Given the description of an element on the screen output the (x, y) to click on. 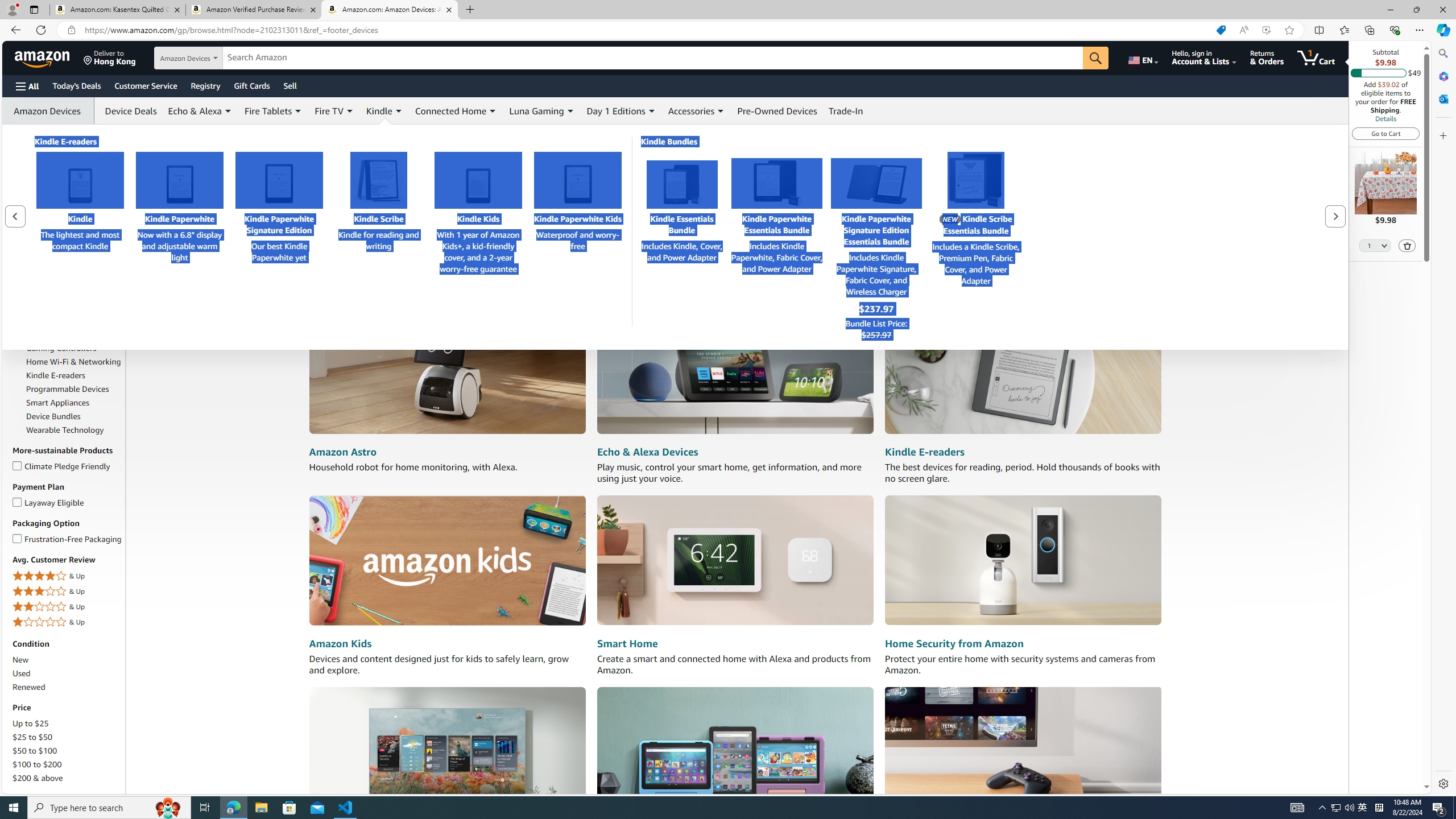
Amazon (43, 57)
Kindle (379, 110)
Programmable Devices (74, 388)
Tap Watch now to see broadcast in immersive view (438, 198)
Deliver to Hong Kong (109, 57)
Amazon Devices & Accessories (67, 223)
3 Stars & Up (67, 591)
$200 & above (67, 777)
Amazon Luna (1022, 751)
Frustration-Free PackagingFrustration-Free Packaging (67, 538)
Home Wi-Fi & Networking (74, 361)
Previous page (15, 216)
